Given the description of an element on the screen output the (x, y) to click on. 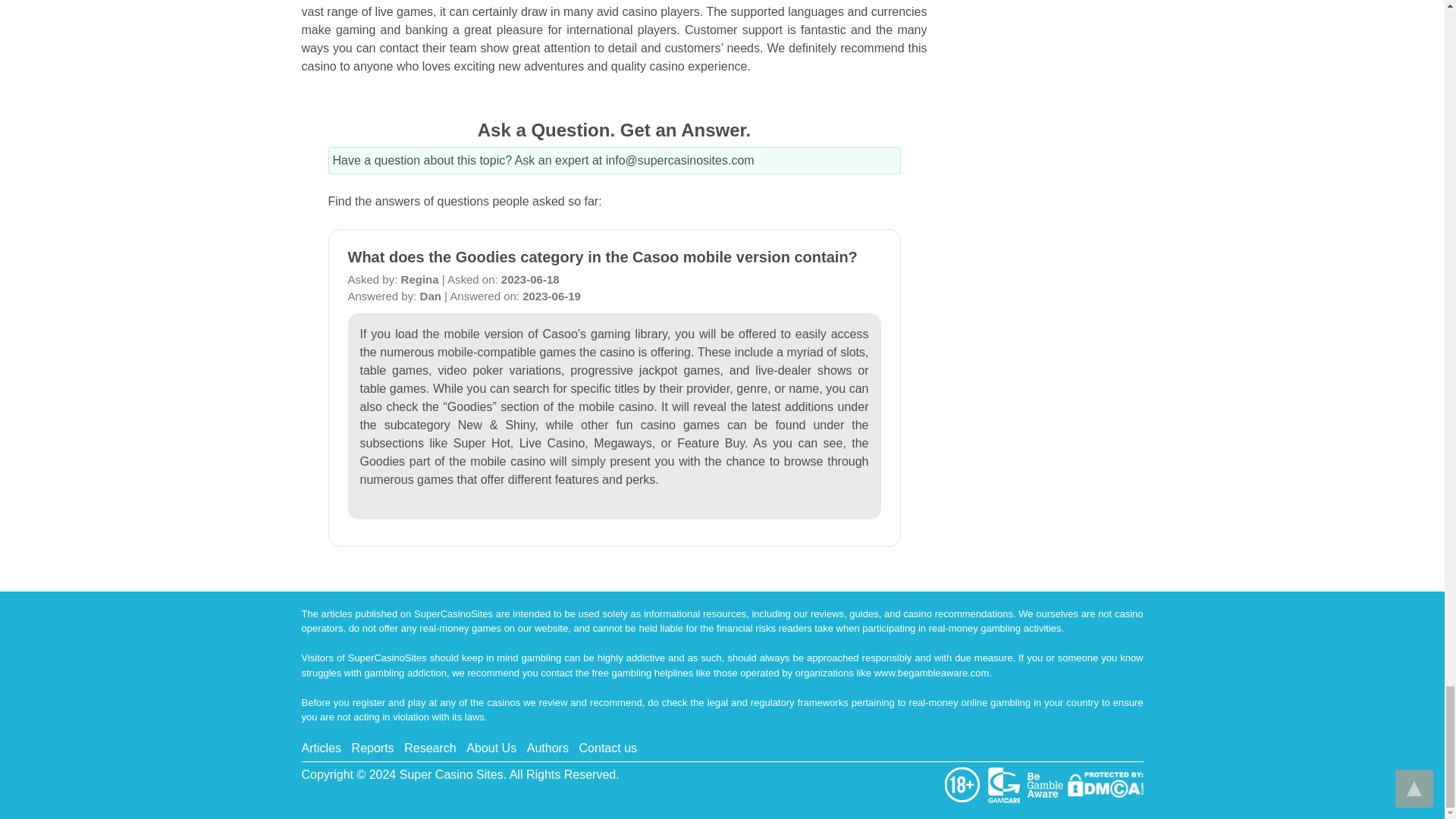
Gam Care (1005, 783)
Gamble Awere (1046, 783)
DMCA.com Protection Status (1104, 783)
